Given the description of an element on the screen output the (x, y) to click on. 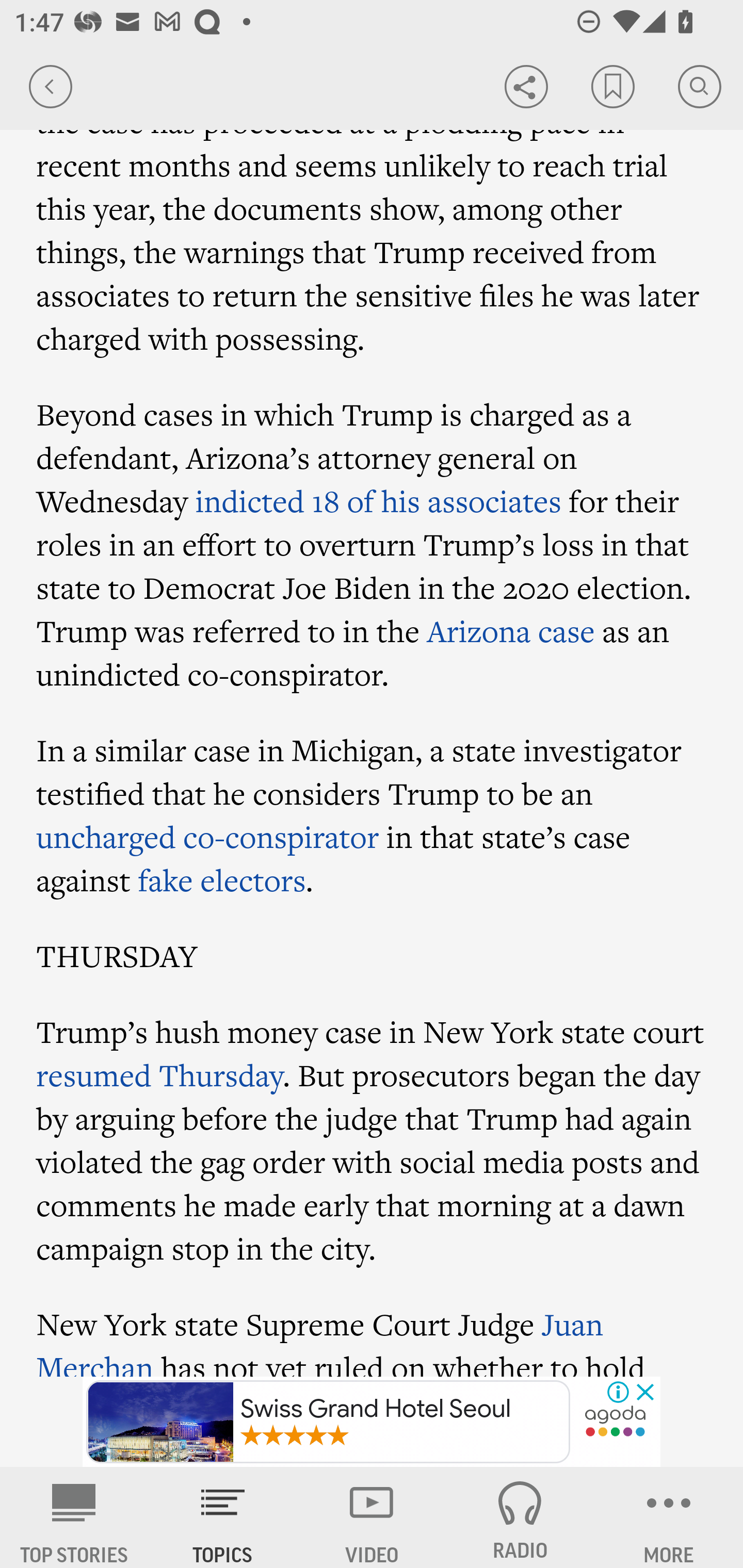
indicted 18 of his associates (377, 500)
Arizona case (510, 630)
uncharged co-conspirator (208, 836)
fake electors (221, 879)
resumed Thursday (159, 1074)
Juan Merchan (320, 1339)
Swiss Grand Hotel Seoul (327, 1421)
partnersearch (615, 1422)
AP News TOP STORIES (74, 1517)
TOPICS (222, 1517)
VIDEO (371, 1517)
RADIO (519, 1517)
MORE (668, 1517)
